Given the description of an element on the screen output the (x, y) to click on. 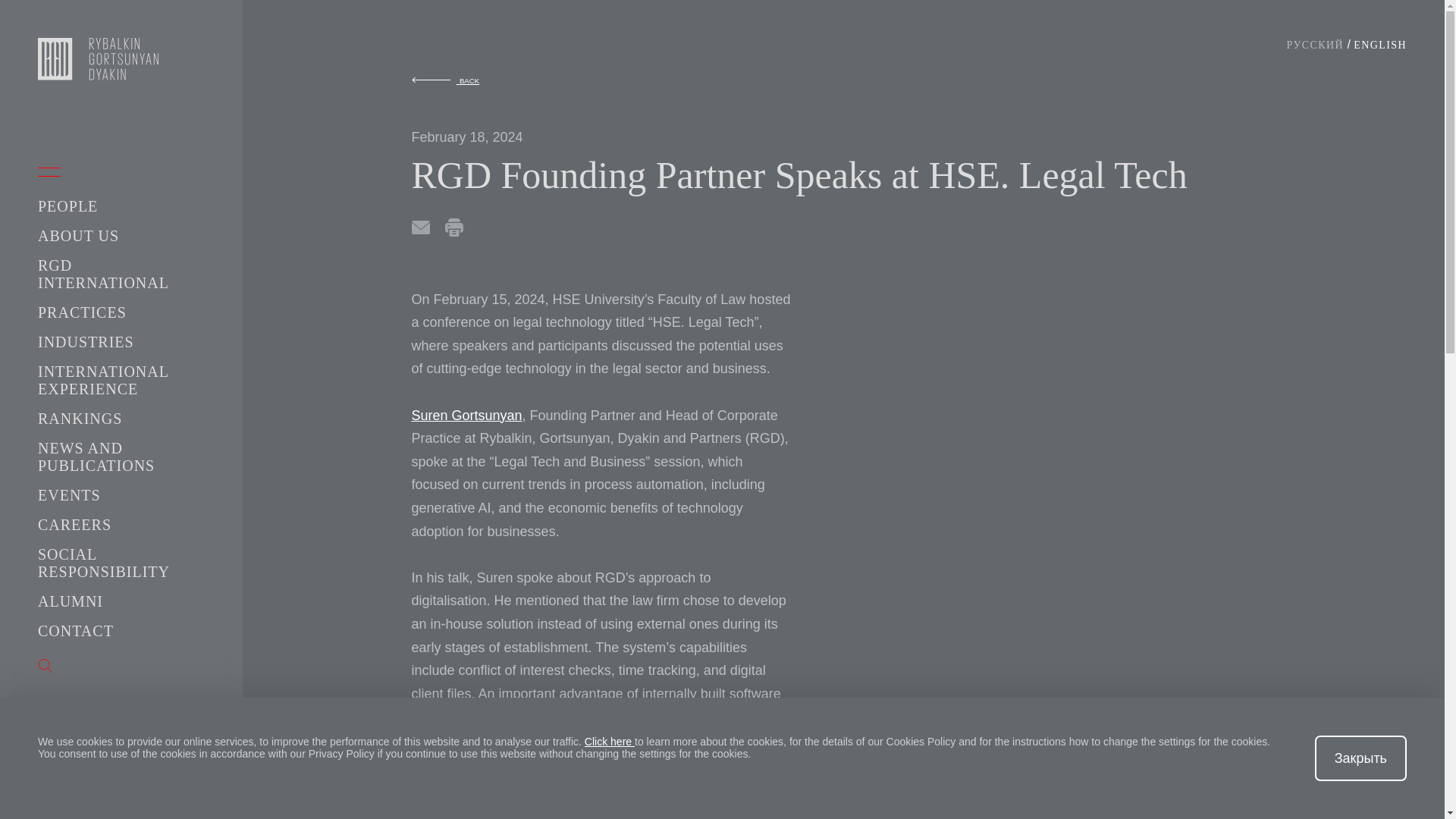
CONTACT (75, 630)
Suren Gortsunyan (465, 415)
PRACTICES (81, 312)
CAREERS (74, 524)
SOCIAL RESPONSIBILITY (103, 562)
RGD INTERNATIONAL (102, 274)
RANKINGS (79, 418)
NEWS AND PUBLICATIONS (95, 456)
ABOUT US (78, 235)
INTERNATIONAL EXPERIENCE (102, 380)
